Given the description of an element on the screen output the (x, y) to click on. 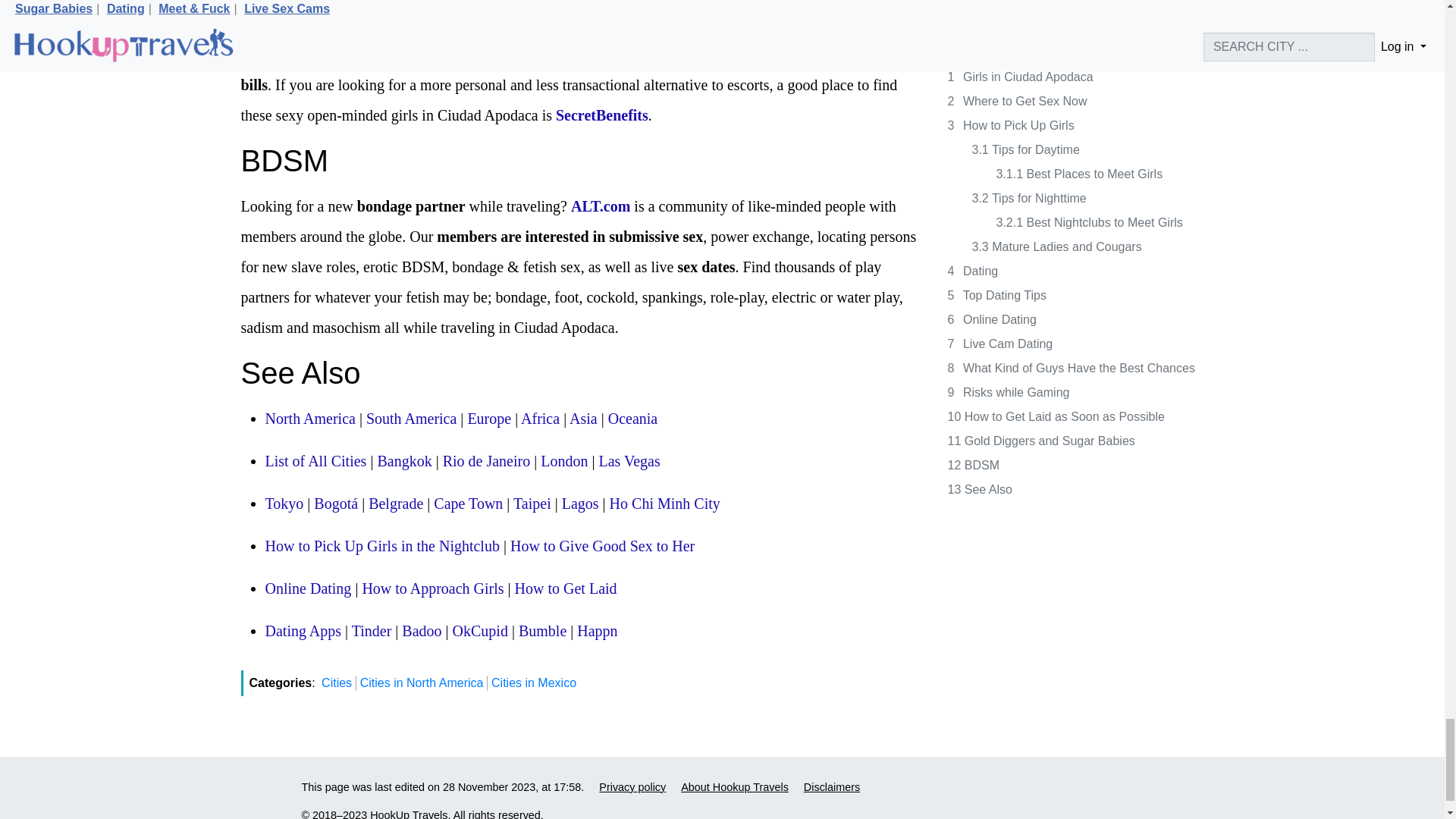
Las Vegas (628, 460)
SecretBenefits (601, 115)
Oceania (633, 418)
Europe (489, 418)
Category:Cities (315, 460)
South America (411, 418)
Rio de Janeiro (486, 460)
North America (309, 418)
ALT.com (600, 206)
Tokyo (284, 503)
Asia (582, 418)
Bangkok (403, 460)
Africa (540, 418)
North America (309, 418)
London (564, 460)
